Given the description of an element on the screen output the (x, y) to click on. 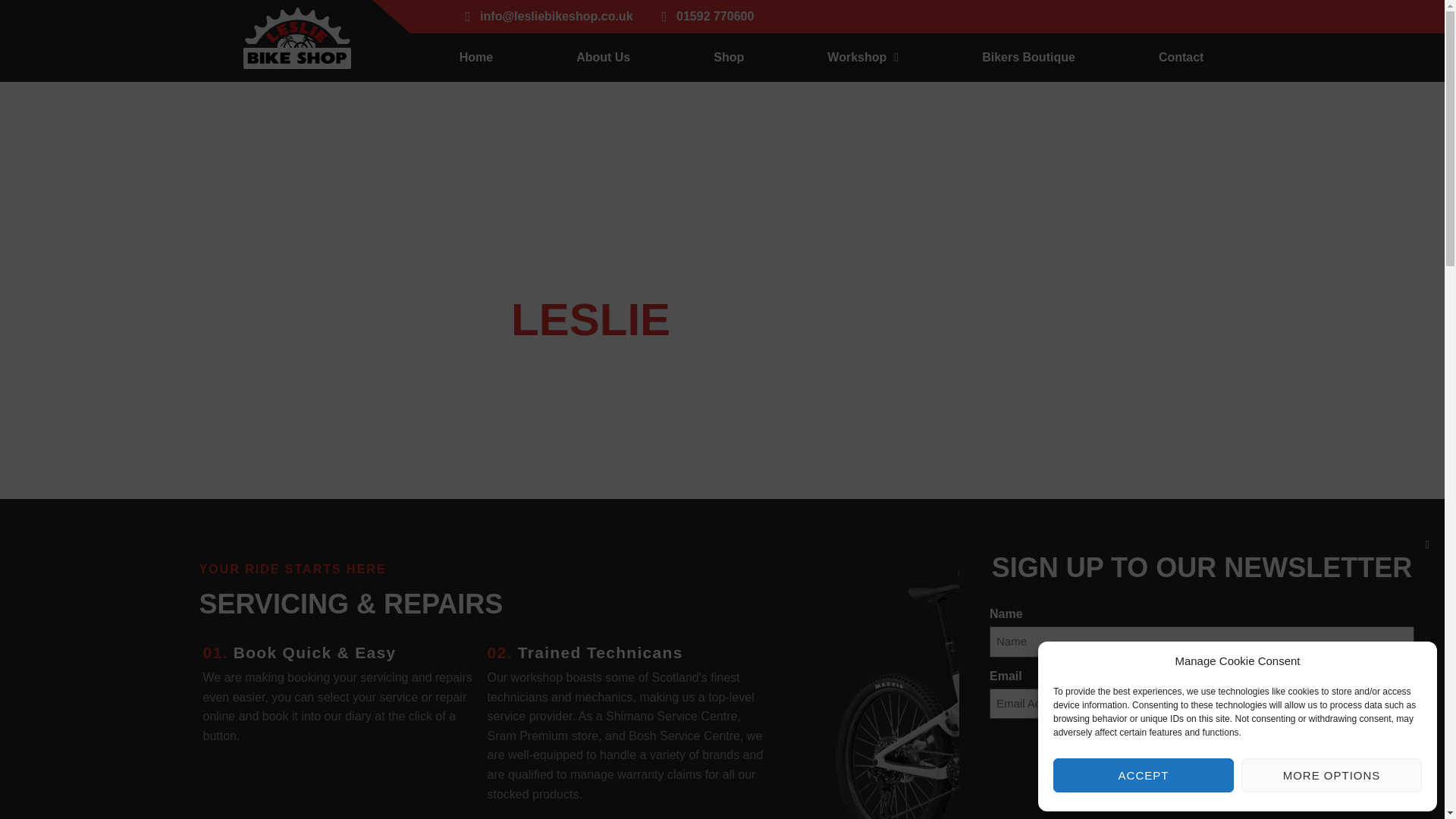
Workshop (863, 57)
ACCEPT (1142, 775)
Shop (728, 57)
About Us (602, 57)
Home (476, 57)
Contact (1181, 57)
Submit (1201, 755)
01592 770600 (705, 16)
Bikers Boutique (1028, 57)
MORE OPTIONS (1331, 775)
